Given the description of an element on the screen output the (x, y) to click on. 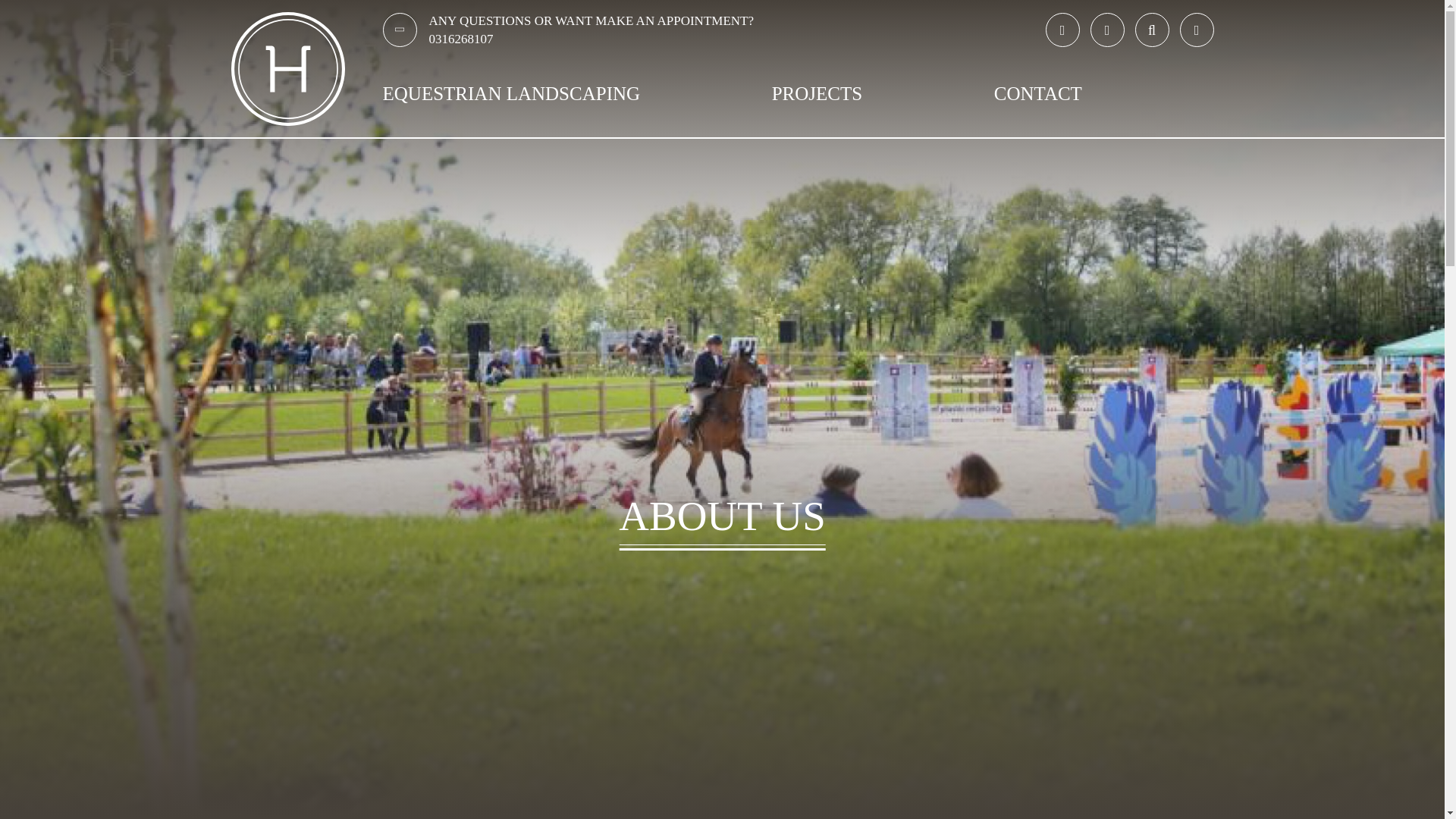
EQUESTRIAN LANDSCAPING (510, 93)
PROJECTS (816, 93)
CONTACT (1037, 93)
